Given the description of an element on the screen output the (x, y) to click on. 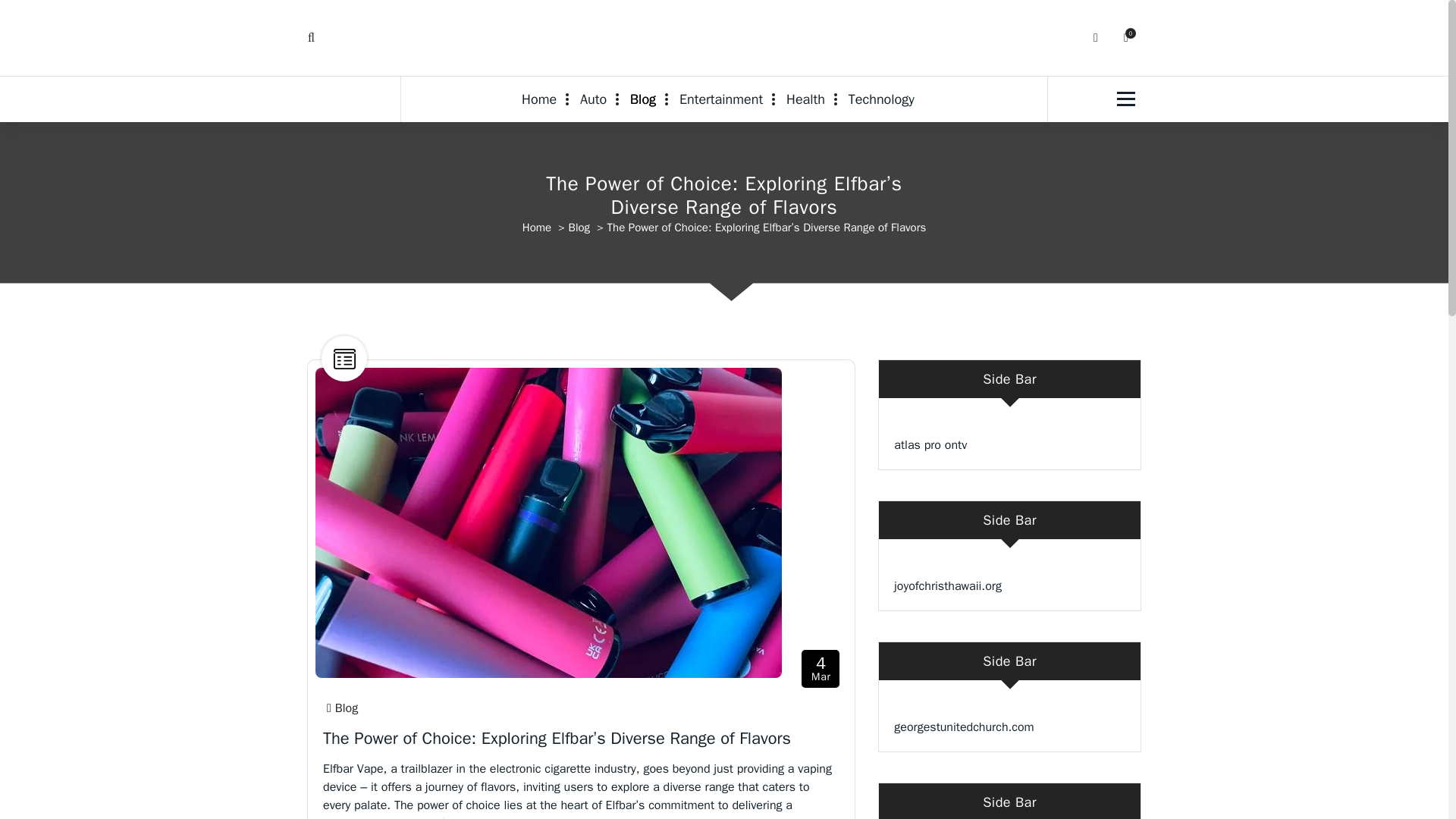
Auto (592, 99)
0 (1125, 37)
Home (545, 99)
Blog (579, 227)
Technology (880, 99)
Technology (880, 99)
georgestunitedchurch.com (963, 726)
Entertainment (720, 99)
Blog (642, 99)
Home (536, 227)
atlas pro ontv (929, 444)
Auto (592, 99)
Blog (642, 99)
joyofchristhawaii.org (947, 585)
Entertainment (720, 99)
